Given the description of an element on the screen output the (x, y) to click on. 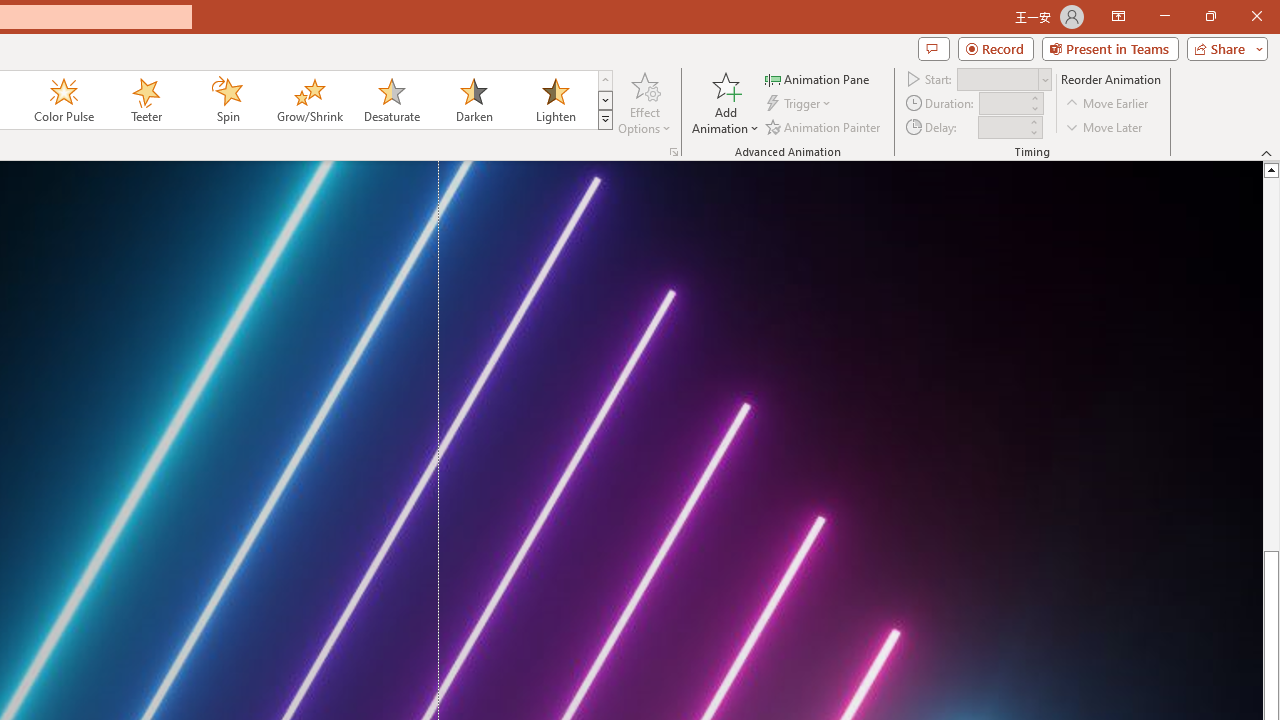
Add Animation (725, 102)
Animation Delay (1002, 127)
Lighten (555, 100)
Teeter (145, 100)
Spin (227, 100)
Desaturate (391, 100)
